Given the description of an element on the screen output the (x, y) to click on. 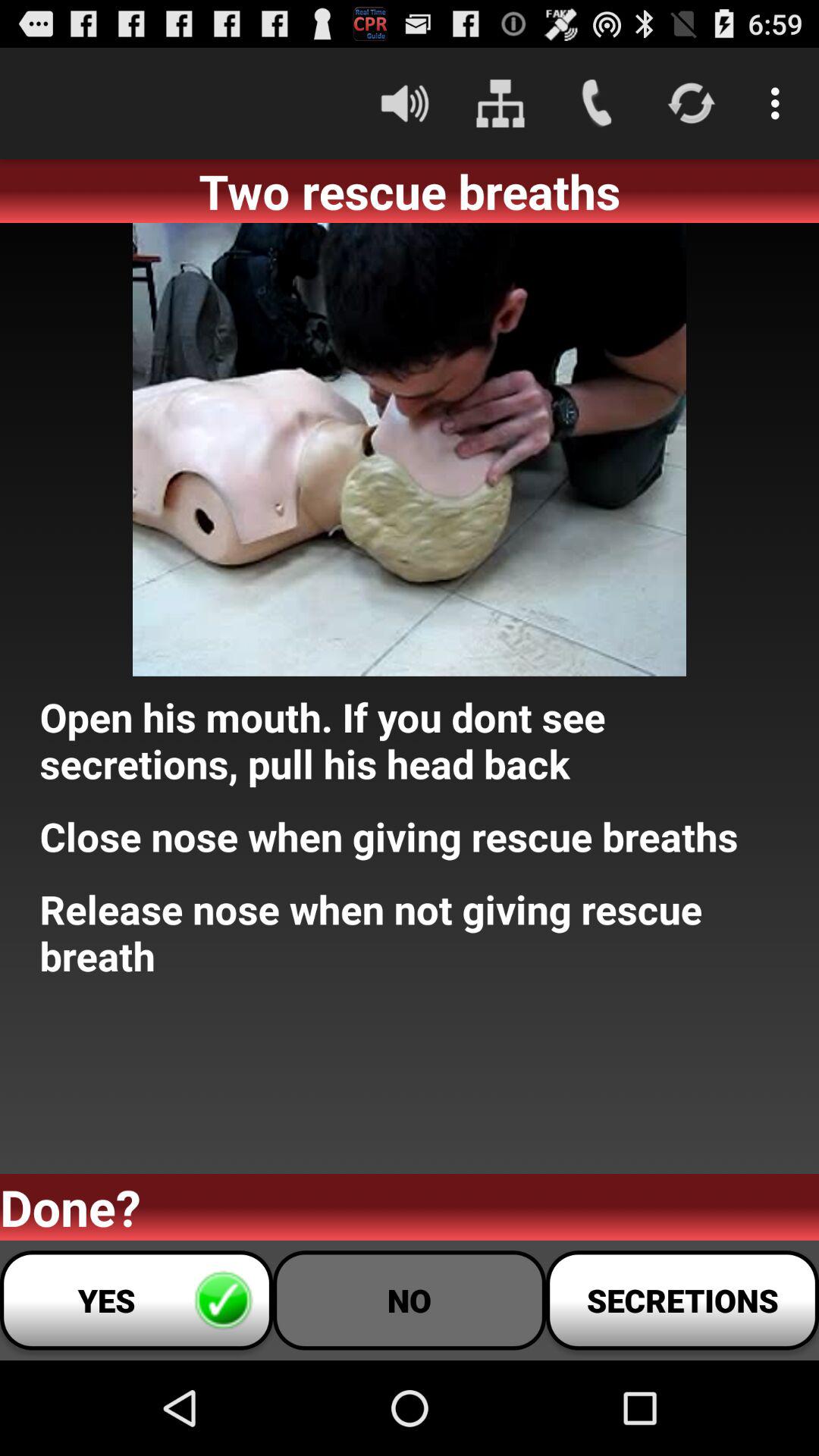
turn on the item next to the secretions button (409, 1300)
